Given the description of an element on the screen output the (x, y) to click on. 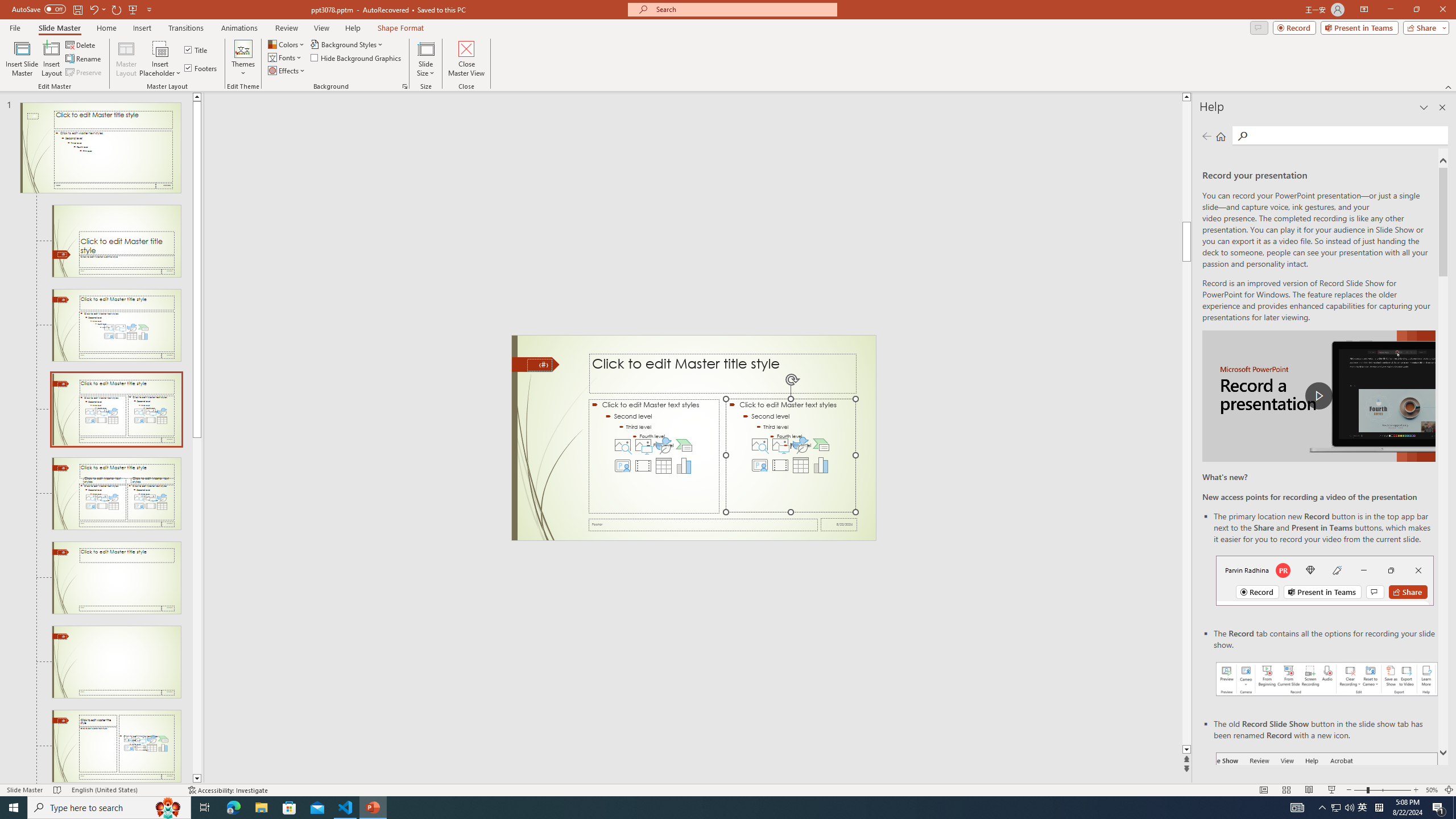
Master Layout... (126, 58)
Freeform 11 (535, 364)
